Given the description of an element on the screen output the (x, y) to click on. 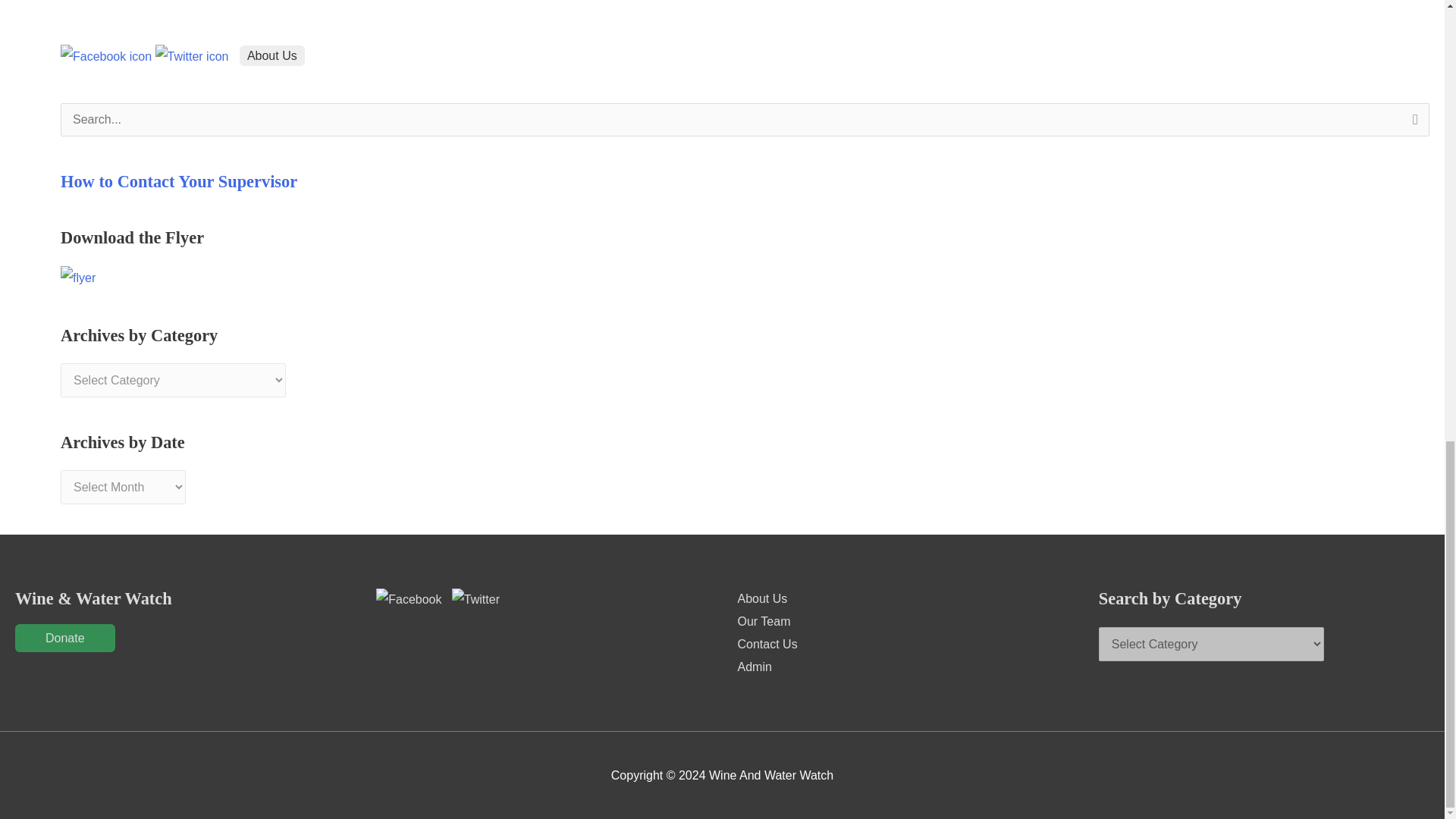
Donate (64, 637)
Contact Us (766, 644)
Our Team (763, 621)
About Us (761, 599)
Admin (753, 666)
